Given the description of an element on the screen output the (x, y) to click on. 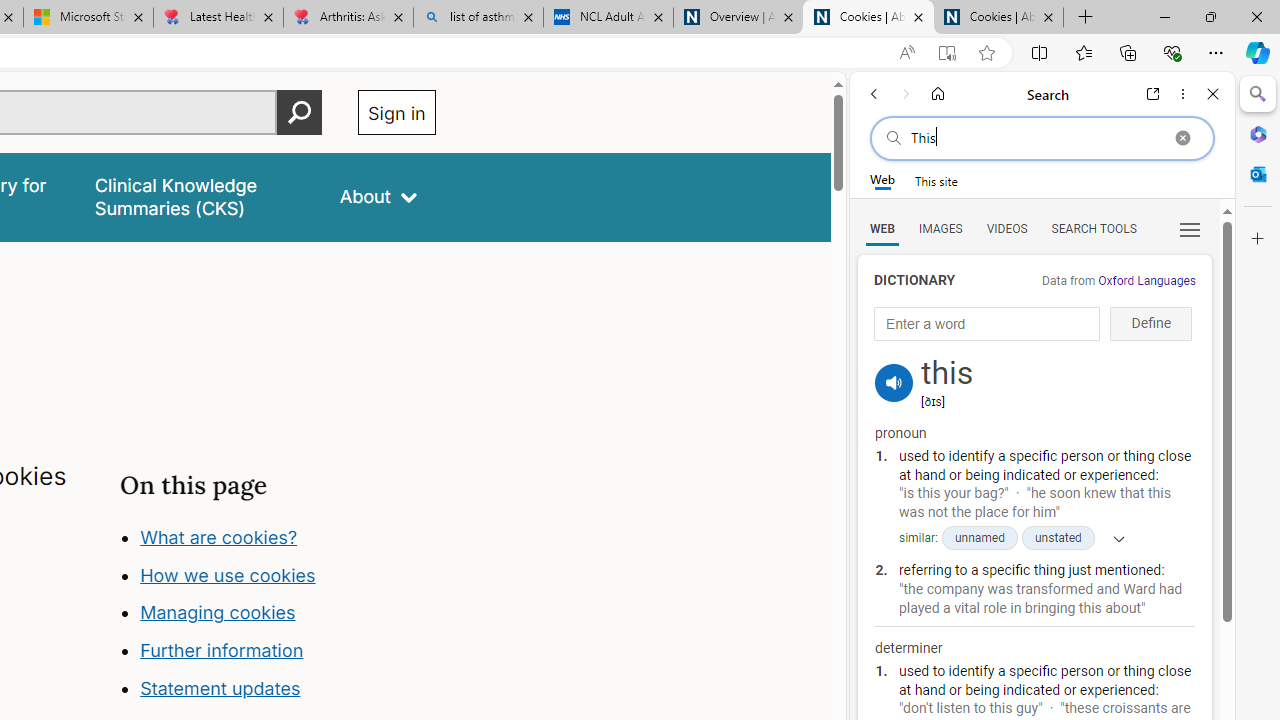
Enter a word (987, 323)
